Given the description of an element on the screen output the (x, y) to click on. 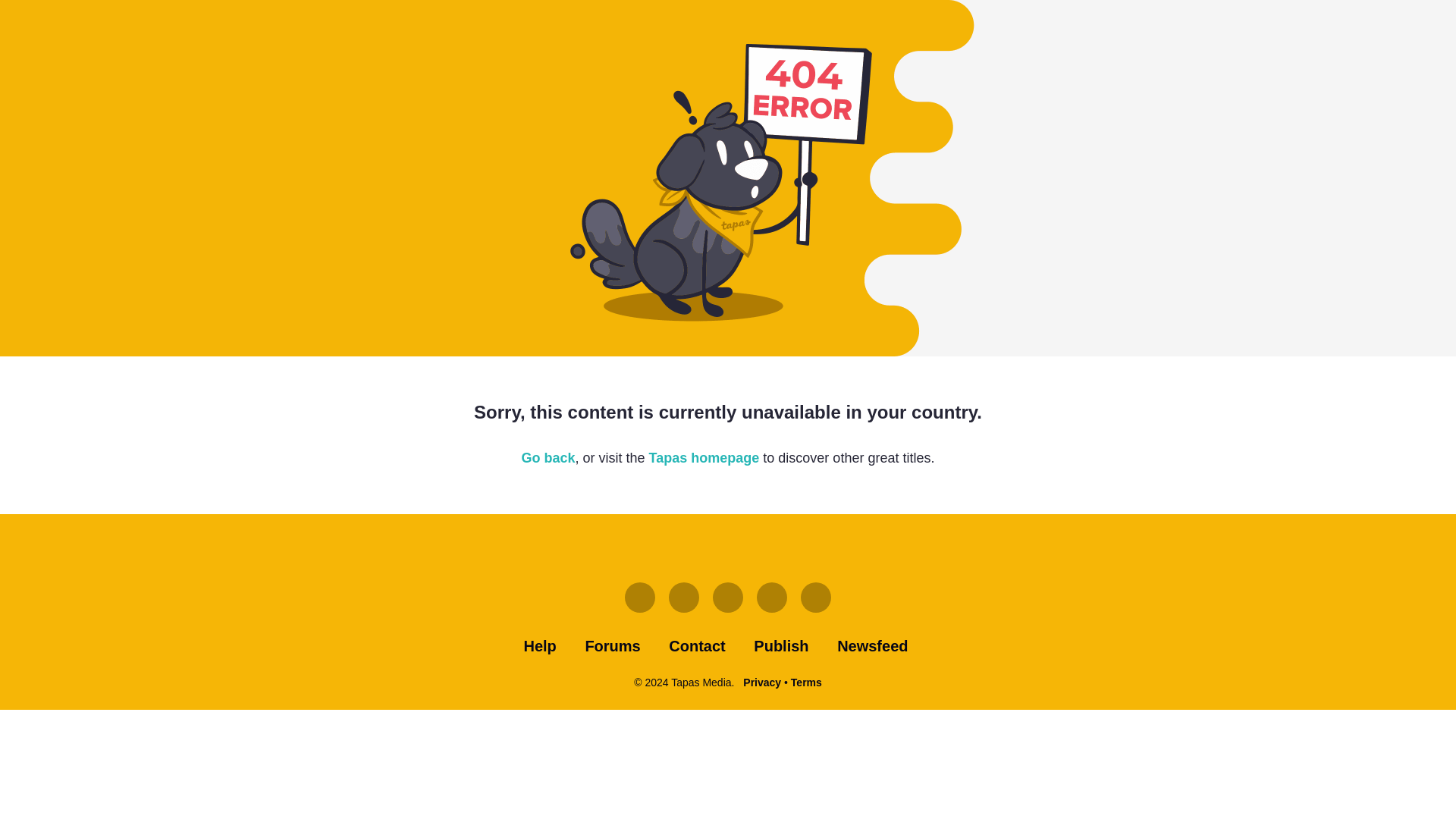
Forums (612, 646)
Tapas homepage (704, 458)
Privacy (761, 682)
Newsfeed (872, 646)
Go back (548, 458)
Help (539, 646)
Publish (781, 646)
Terms (806, 682)
Contact (696, 646)
